Given the description of an element on the screen output the (x, y) to click on. 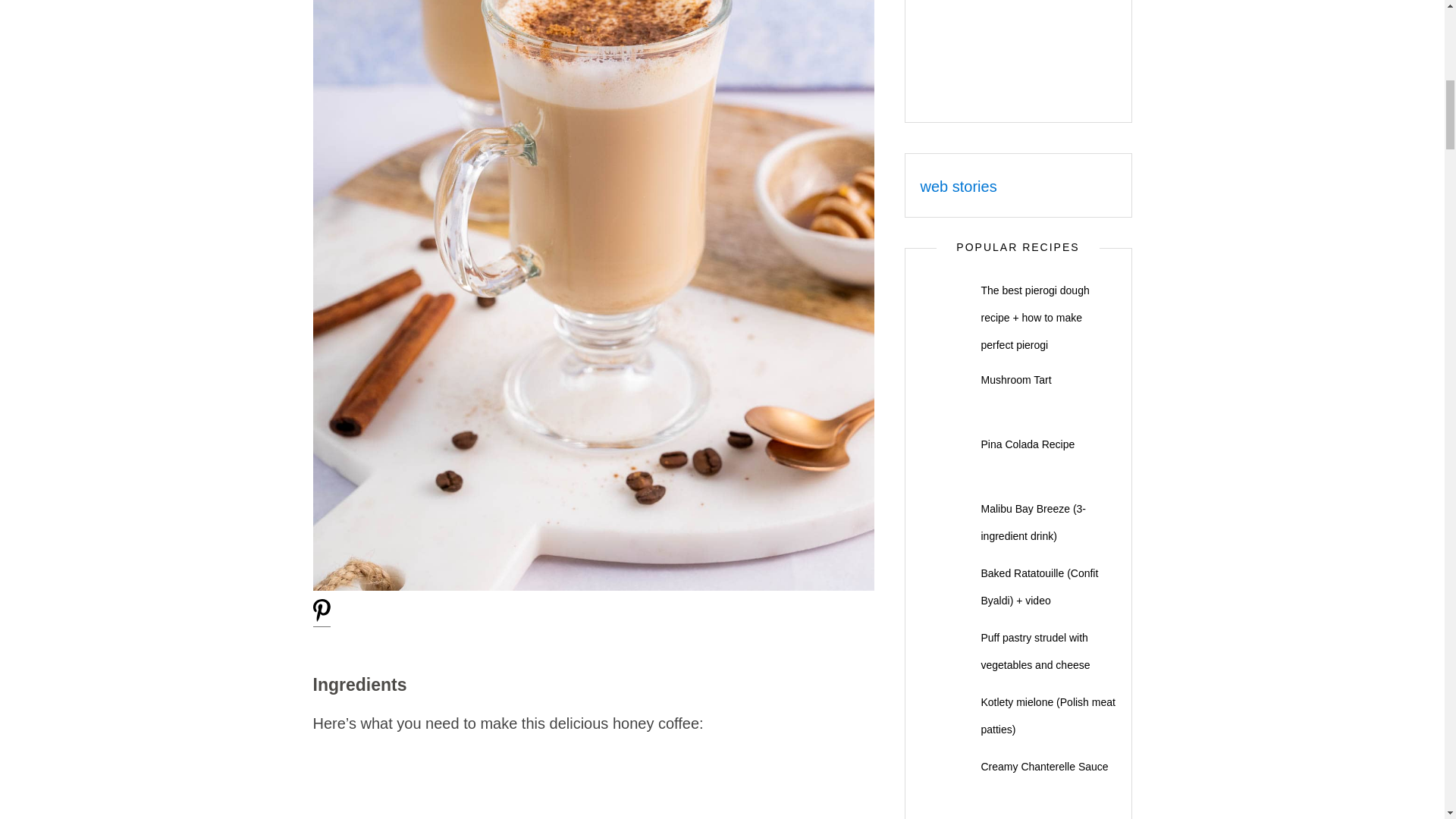
pin it (321, 618)
